Given the description of an element on the screen output the (x, y) to click on. 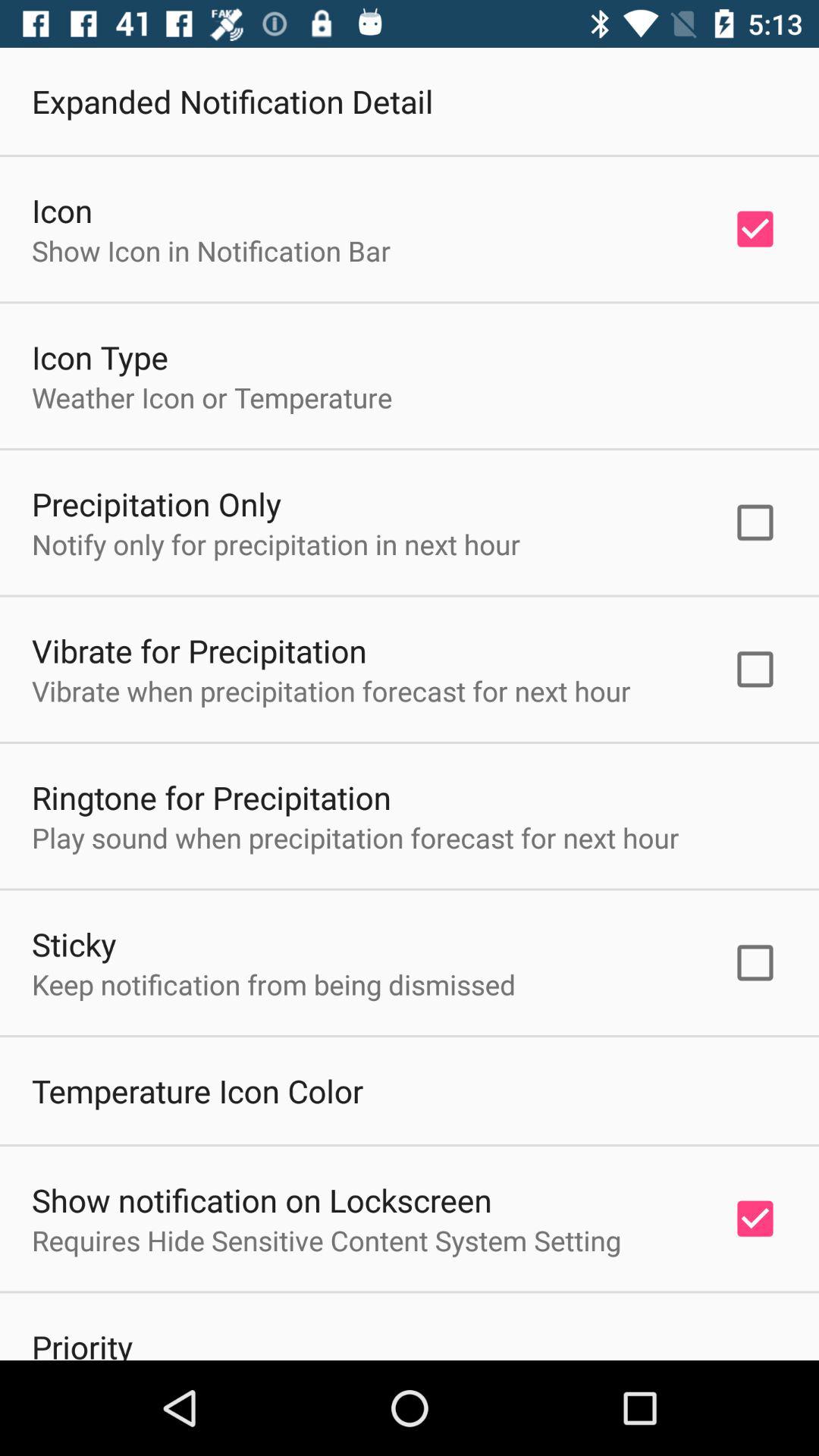
flip to the notify only for item (275, 544)
